Given the description of an element on the screen output the (x, y) to click on. 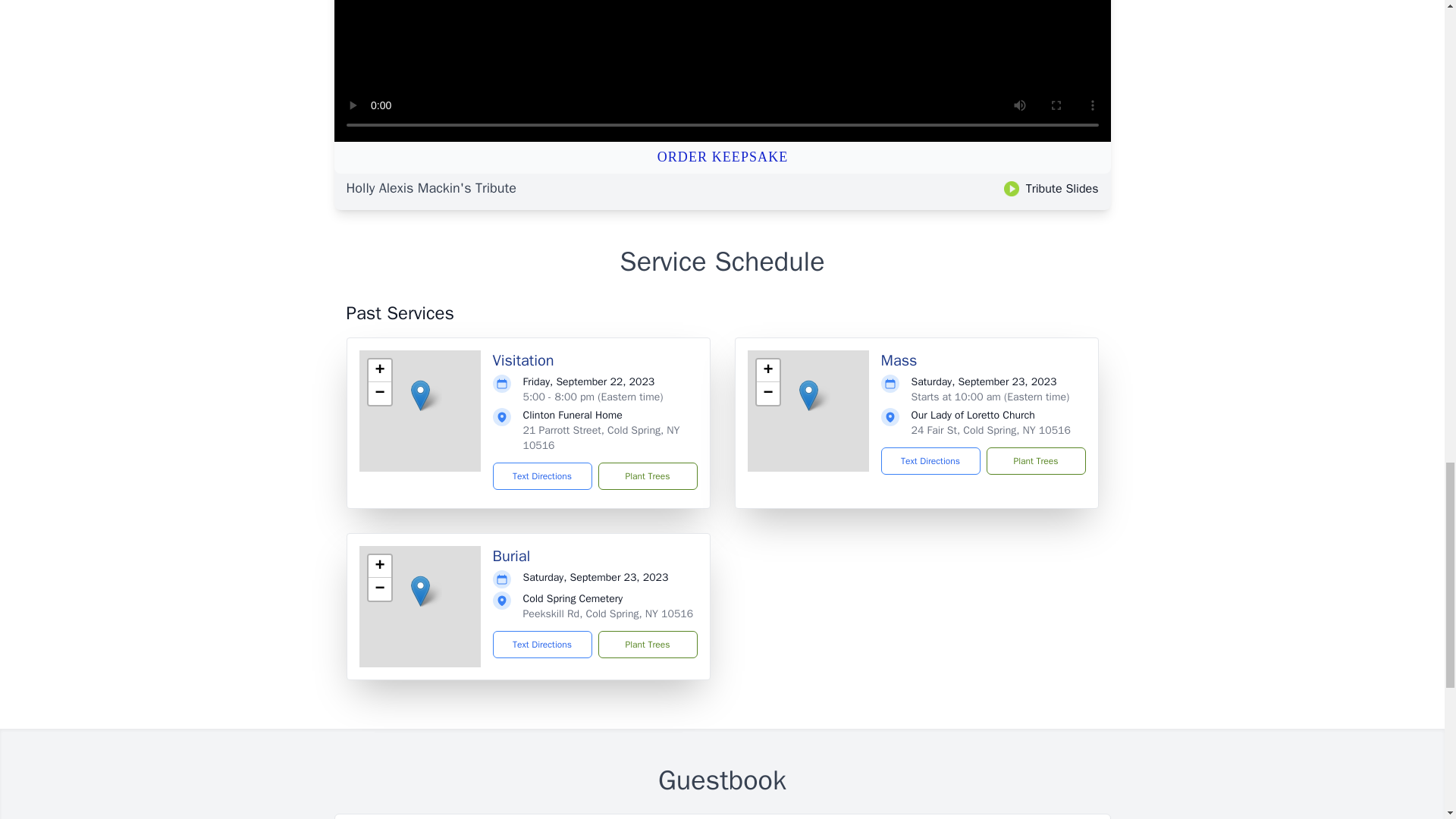
Zoom in (379, 370)
Zoom out (767, 393)
Zoom out (379, 589)
Peekskill Rd, Cold Spring, NY 10516 (608, 613)
24 Fair St, Cold Spring, NY 10516 (990, 430)
Zoom in (379, 566)
Plant Trees (1034, 461)
Zoom in (767, 370)
21 Parrott Street, Cold Spring, NY 10516 (600, 438)
Text Directions (542, 475)
Plant Trees (646, 475)
Text Directions (542, 644)
Zoom out (379, 393)
Text Directions (929, 461)
Plant Trees (646, 644)
